Given the description of an element on the screen output the (x, y) to click on. 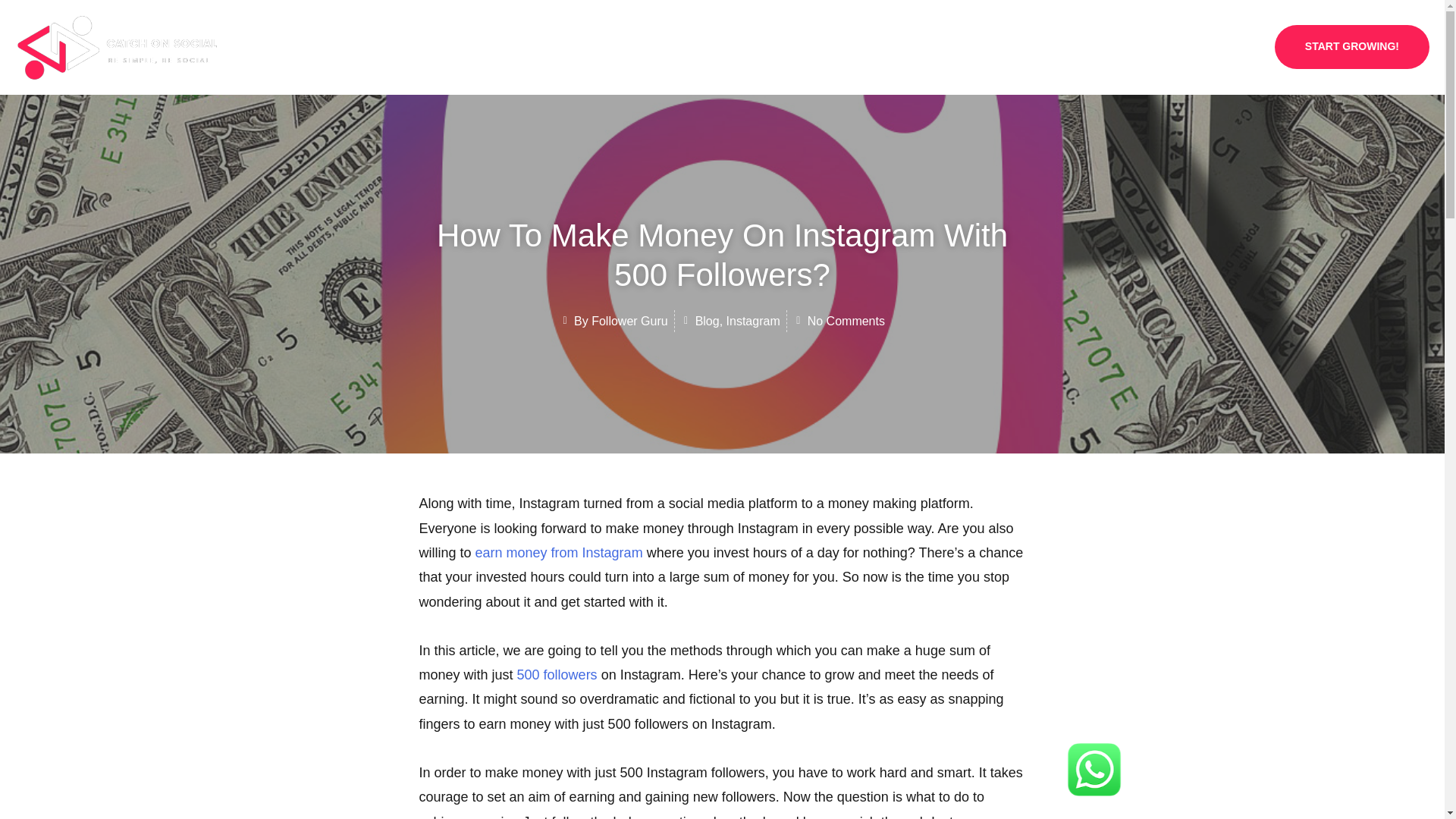
Instagram (753, 320)
Contact (1226, 46)
Blog (707, 320)
About (1014, 46)
earn money from Instagram (559, 552)
START GROWING! (1352, 46)
Home (958, 46)
Blog (1168, 46)
By Follower Guru (613, 321)
SMM Services (1093, 46)
